Given the description of an element on the screen output the (x, y) to click on. 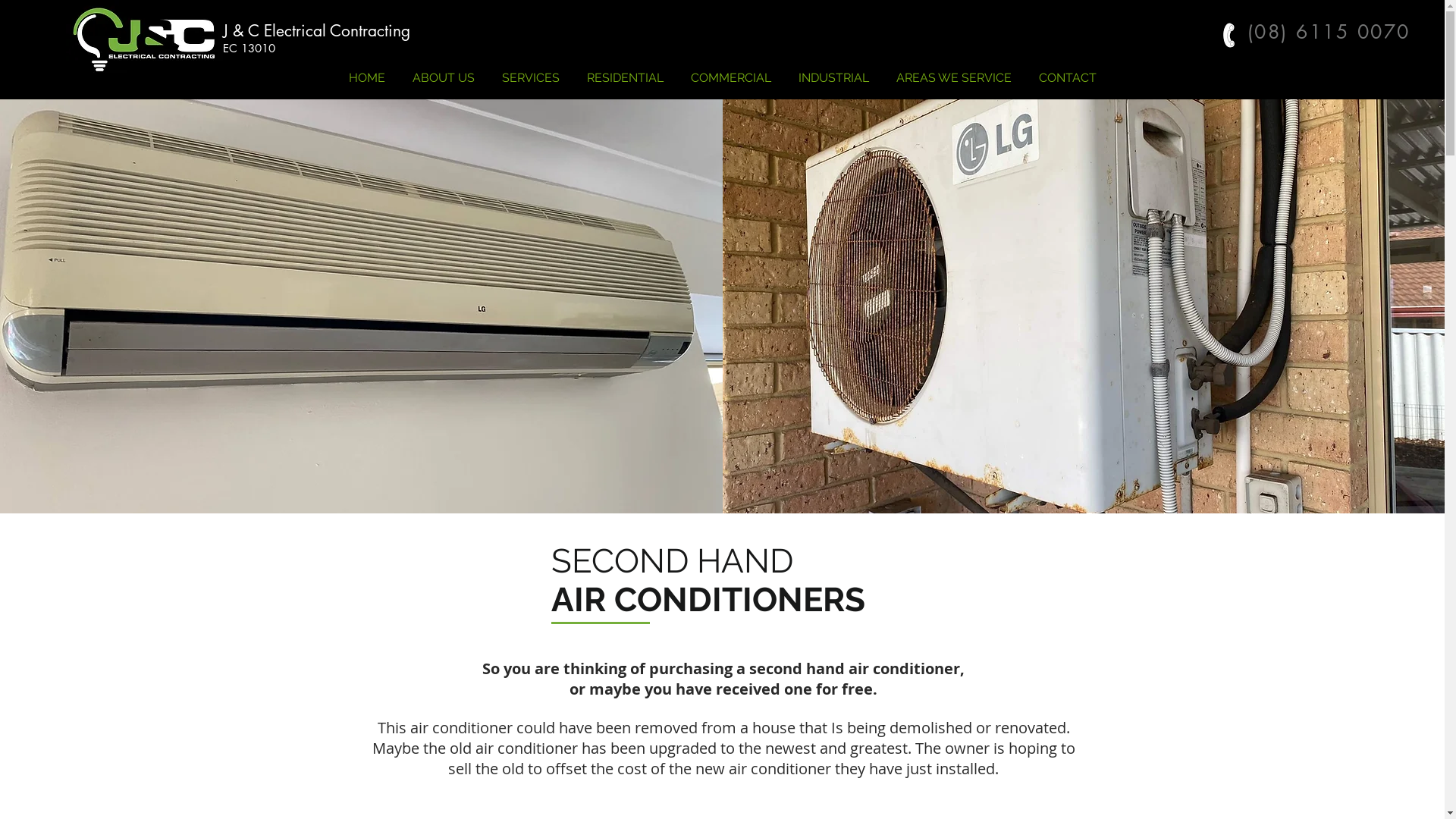
ABOUT US Element type: text (443, 70)
SERVICES Element type: text (530, 70)
CONTACT Element type: text (1067, 70)
COMMERCIAL Element type: text (730, 70)
J & C Electrical Contracting Element type: text (316, 30)
INDUSTRIAL Element type: text (832, 70)
HOME Element type: text (366, 70)
AREAS WE SERVICE Element type: text (953, 70)
RESIDENTIAL Element type: text (625, 70)
